Given the description of an element on the screen output the (x, y) to click on. 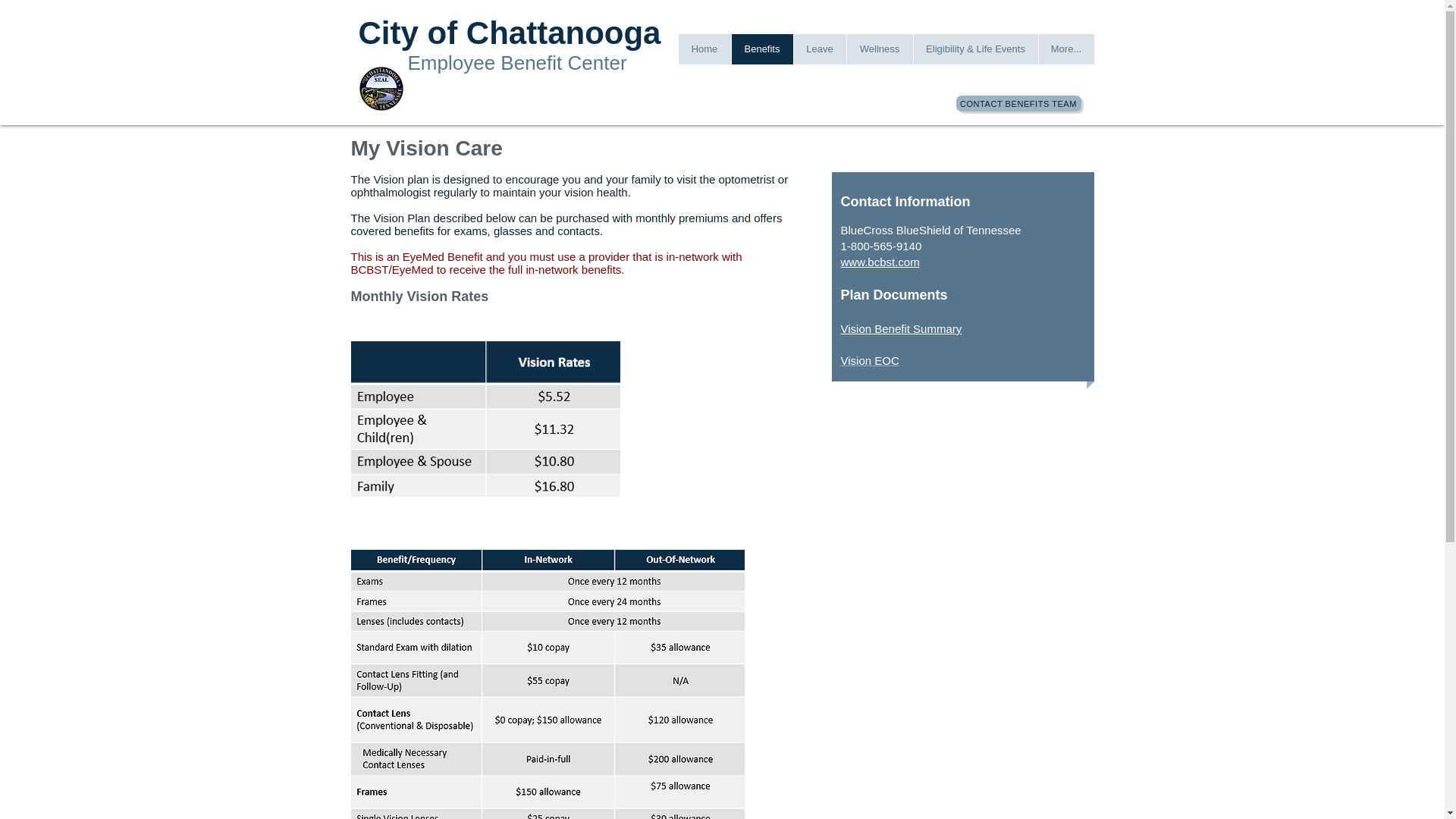
Leave (819, 49)
Home (704, 49)
VisionRates.png (485, 418)
Vision EOC (869, 359)
Wellness (878, 49)
CONTACT BENEFITS TEAM (1017, 103)
www.bcbst.com (879, 261)
Vision Benefits.png (547, 684)
Benefits (761, 49)
Vision Benefit Summary (900, 328)
